Given the description of an element on the screen output the (x, y) to click on. 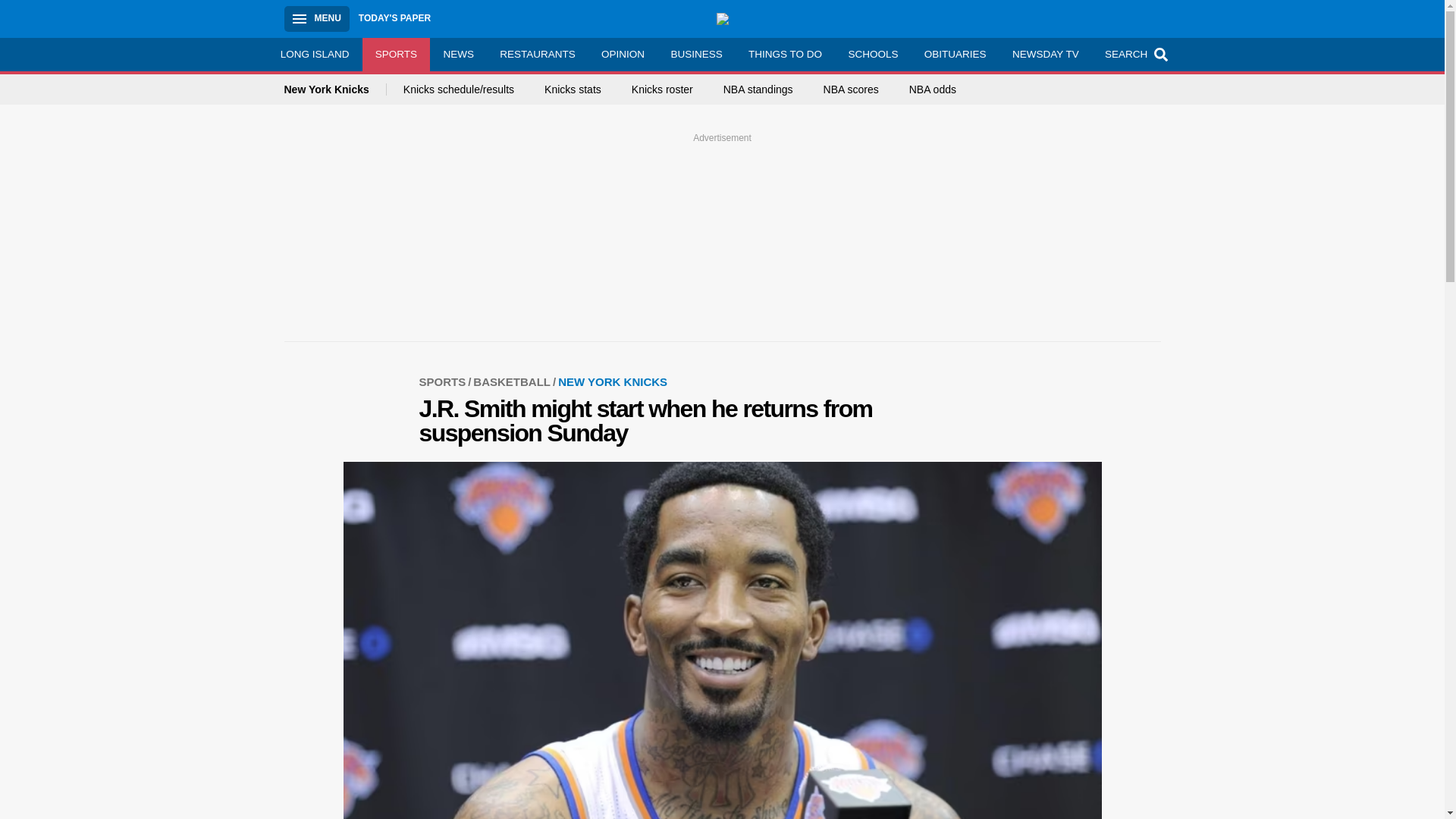
Knicks stats (572, 89)
NEW YORK KNICKS (611, 381)
NBA scores (851, 89)
MENU (316, 18)
THINGS TO DO (784, 54)
NEWS (457, 54)
SCHOOLS (872, 54)
SPORTS (396, 54)
RESTAURANTS (537, 54)
TODAY'S PAPER (394, 18)
